Given the description of an element on the screen output the (x, y) to click on. 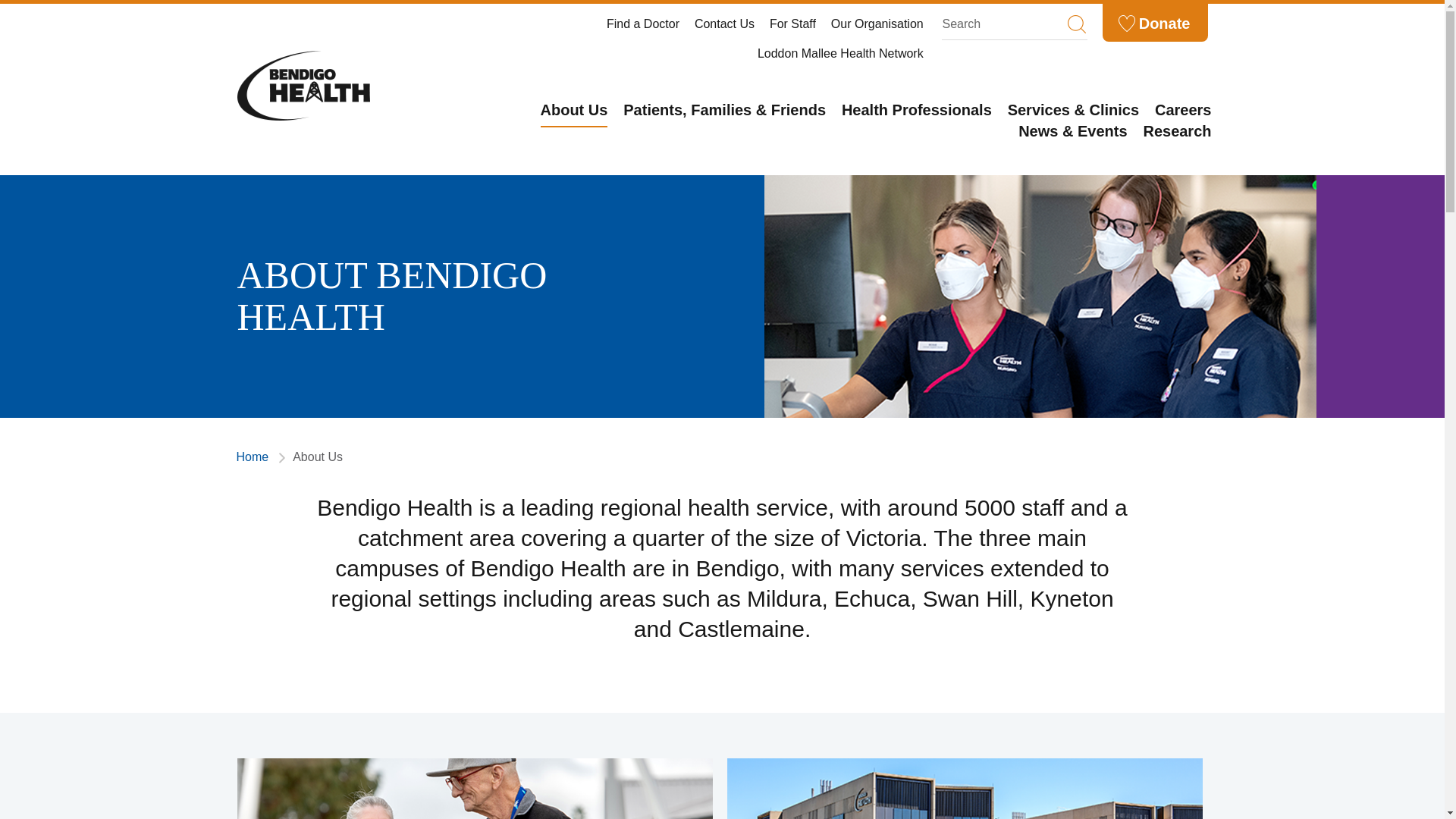
For Staff (792, 23)
Careers (1182, 114)
Loddon Mallee Health Network (840, 52)
Contact Us (724, 23)
Donate (1146, 24)
Health Professionals (916, 114)
About Us (573, 114)
Home (259, 457)
Find a Doctor (643, 23)
Search (1003, 26)
Research (1176, 135)
Our Organisation (877, 23)
